Given the description of an element on the screen output the (x, y) to click on. 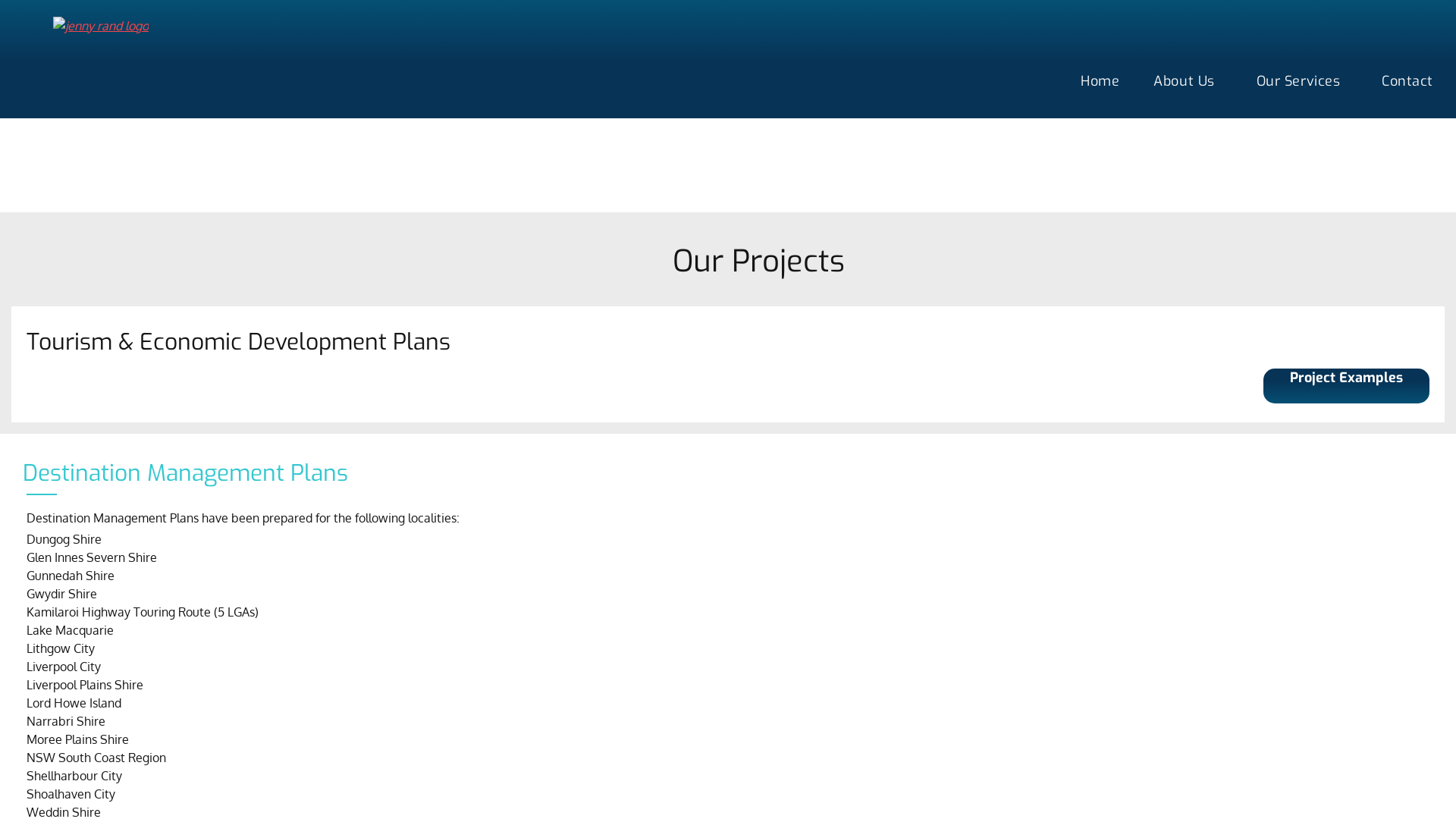
Contact Element type: text (1407, 81)
Home Element type: text (1099, 81)
About Us Element type: text (1187, 81)
Project Examples Element type: text (1346, 385)
Our Services Element type: text (1301, 81)
